Given the description of an element on the screen output the (x, y) to click on. 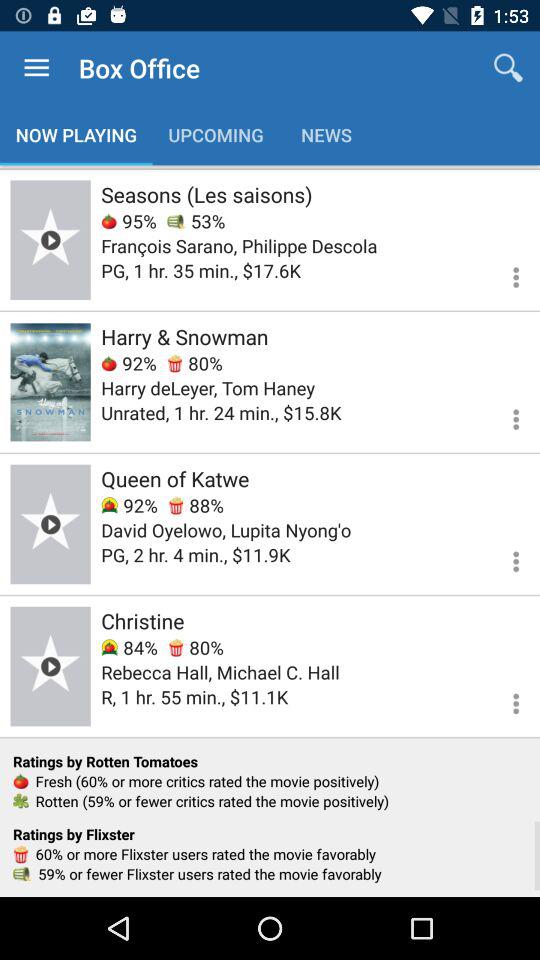
find out more info (503, 274)
